Given the description of an element on the screen output the (x, y) to click on. 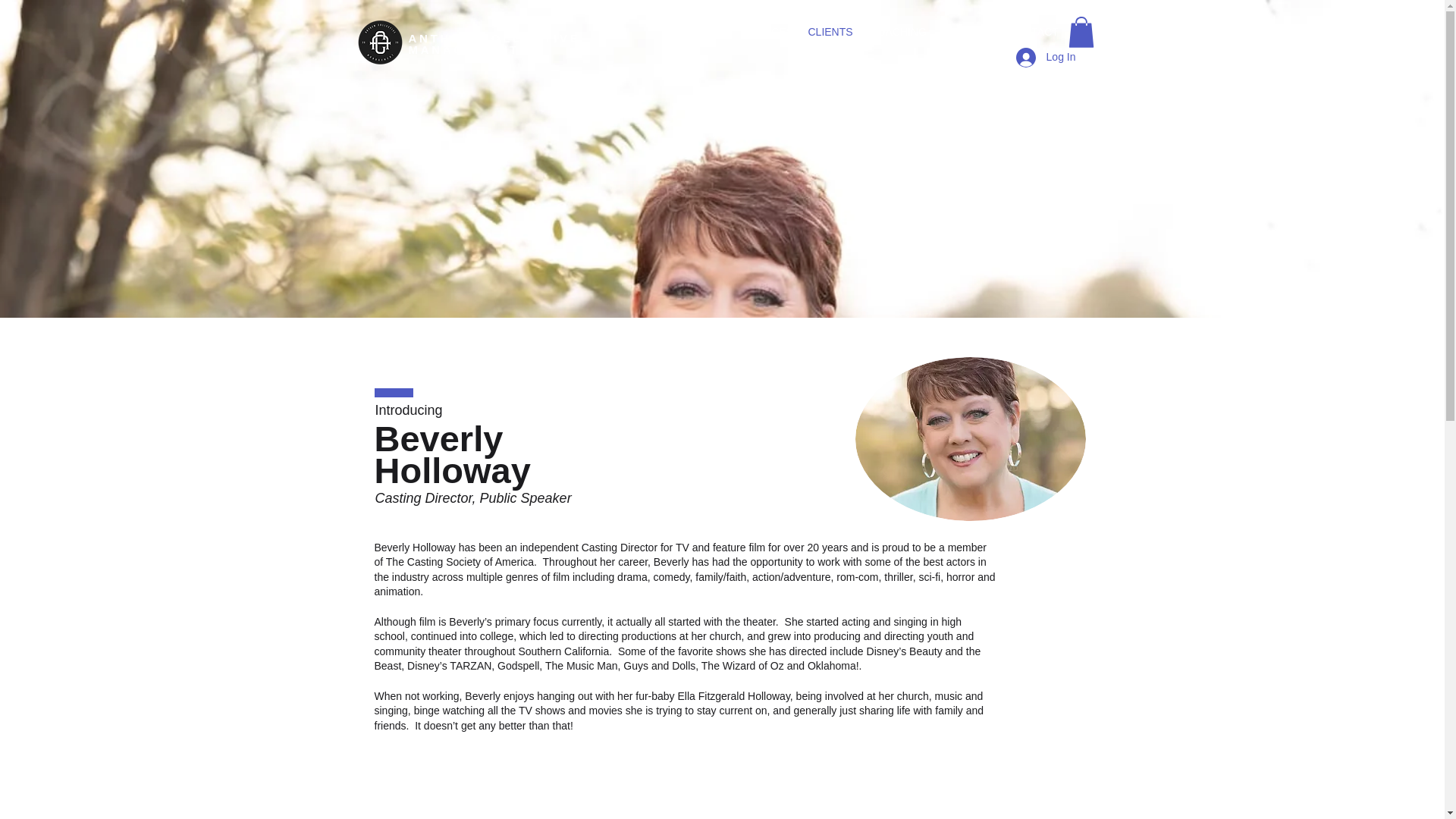
SERVICES (764, 31)
BOOKING (966, 31)
ANTHEM COLLECTIVE (493, 38)
Log In (1046, 57)
CONTACT (1032, 31)
HOME (706, 31)
CLIENTS (829, 31)
COACHING (897, 31)
